Given the description of an element on the screen output the (x, y) to click on. 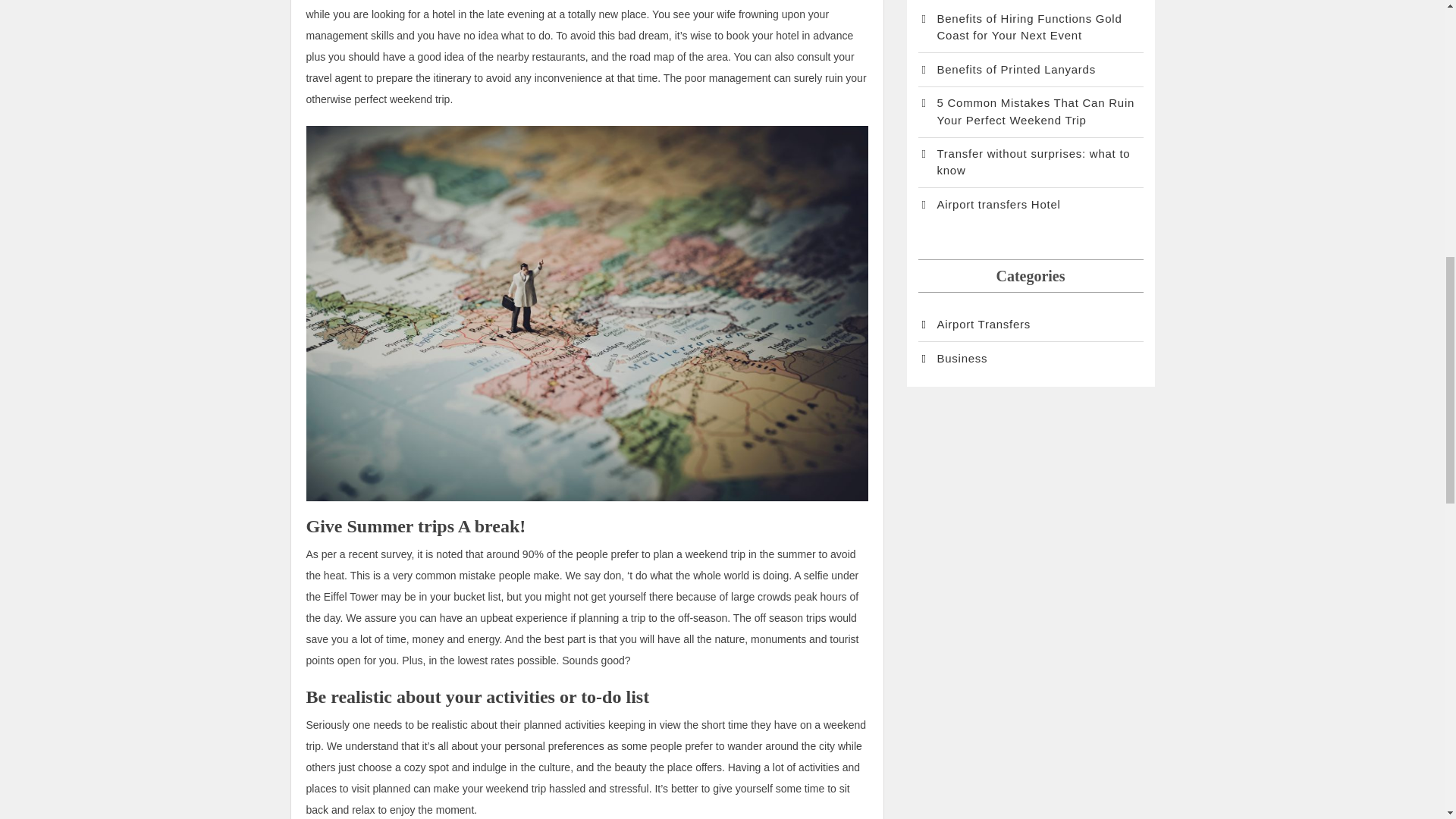
Airport transfers Hotel (988, 204)
Transfer without surprises: what to know (1029, 162)
Business (952, 358)
Benefits of Hiring Functions Gold Coast for Your Next Event (1029, 27)
Benefits of Printed Lanyards (1005, 69)
5 Common Mistakes That Can Ruin Your Perfect Weekend Trip (1029, 111)
Airport Transfers (973, 324)
